Given the description of an element on the screen output the (x, y) to click on. 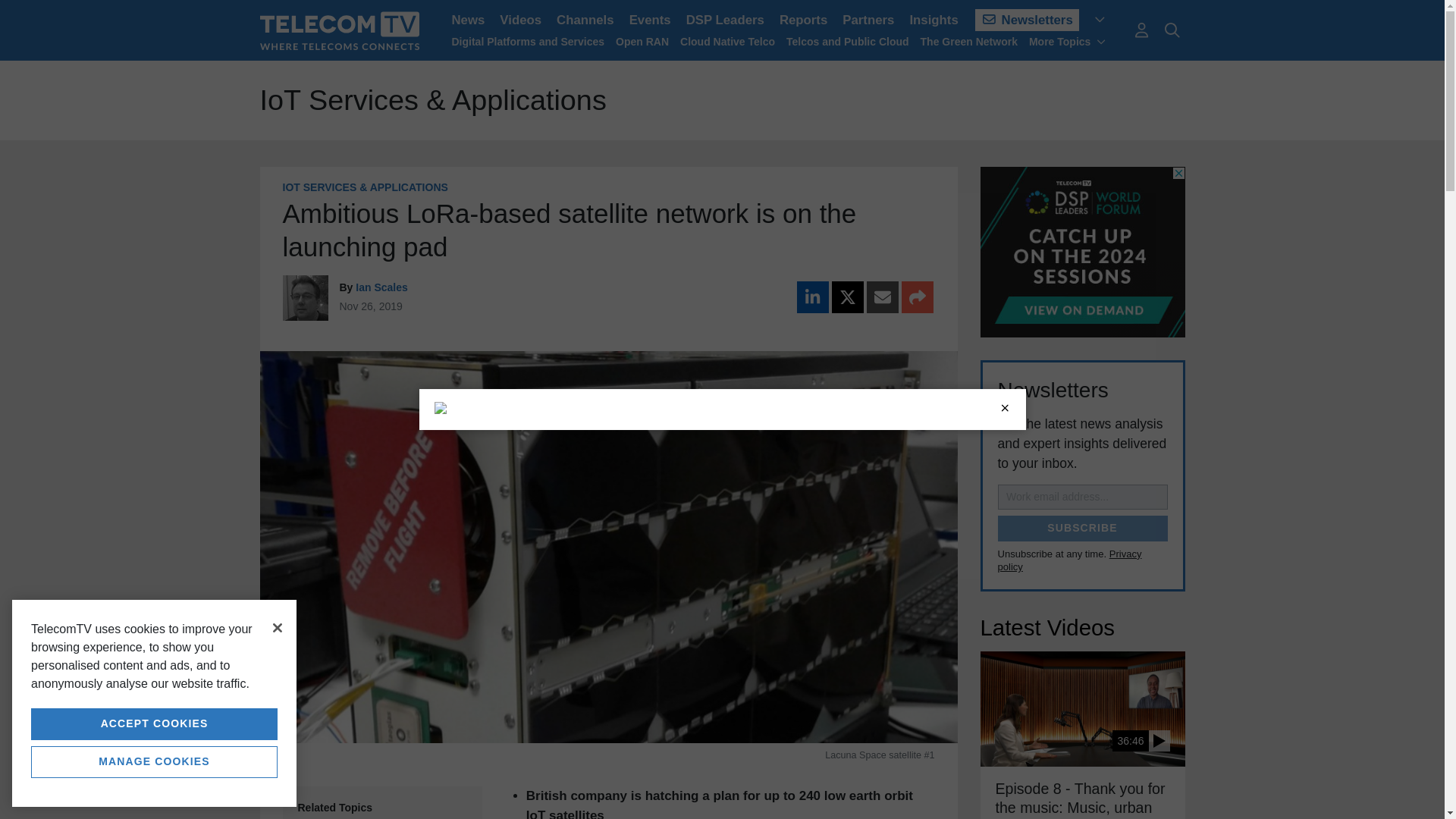
November 26, 2019 5:10 PM (371, 306)
Cloud Native Telco (726, 41)
DSP Leaders (724, 20)
Open RAN (641, 41)
News (468, 20)
Digital Platforms and Services (528, 41)
Videos (520, 20)
Insights (932, 20)
More Topics (1067, 41)
Events (650, 20)
The Green Network (968, 41)
Channels (585, 20)
Partners (867, 20)
Newsletters (1026, 20)
3rd party ad content (1082, 252)
